Given the description of an element on the screen output the (x, y) to click on. 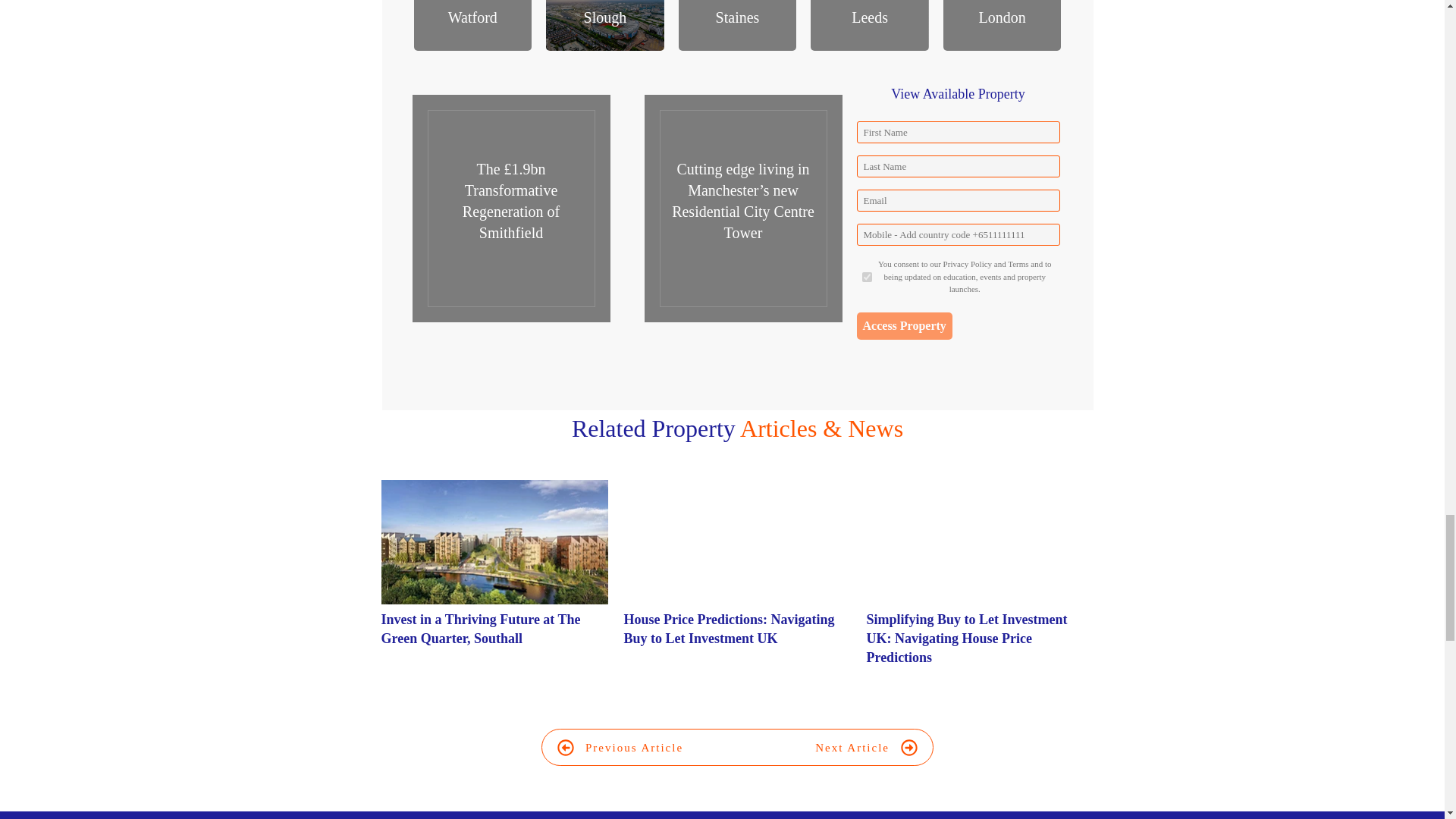
Previous Article (619, 747)
Invest in a Thriving Future at The Green Quarter, Southall (479, 628)
Invest in a Thriving Future at The Green Quarter, Southall (479, 628)
House Price Predictions: Navigating Buy to Let Investment UK (728, 628)
Invest in a Thriving Future at The Green Quarter, Southall (494, 581)
Access Property (904, 325)
